Given the description of an element on the screen output the (x, y) to click on. 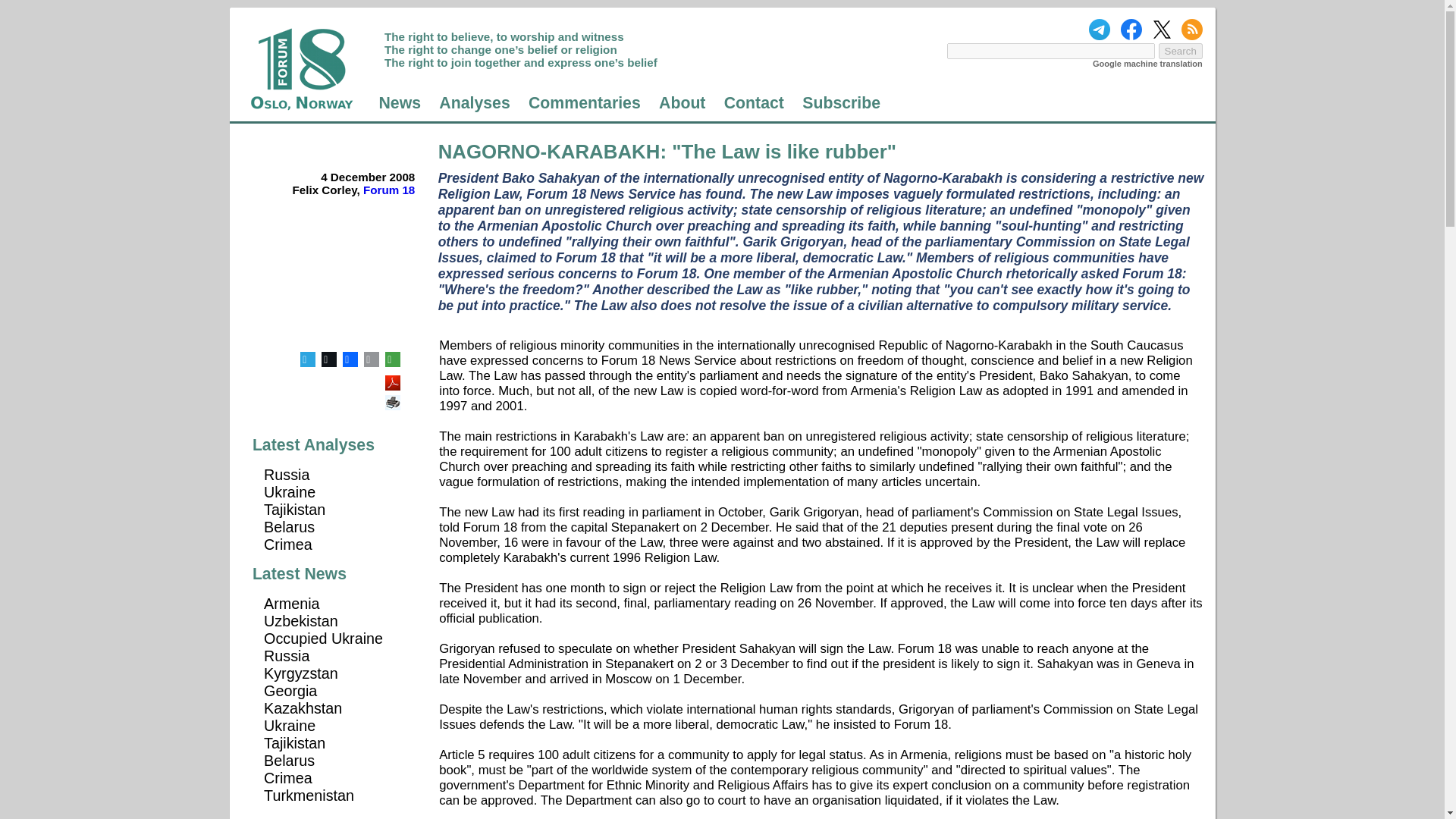
Analyses (474, 103)
Georgia (290, 690)
Forum 18 (388, 189)
PDF (394, 378)
Subscribe (841, 103)
More Options (392, 359)
Uzbekistan (300, 620)
Ukraine (289, 492)
Russia (285, 655)
Russia (285, 474)
Facebook (350, 359)
Kyrgyzstan (300, 673)
Ukraine (289, 725)
Print (394, 396)
Tajikistan (293, 742)
